Given the description of an element on the screen output the (x, y) to click on. 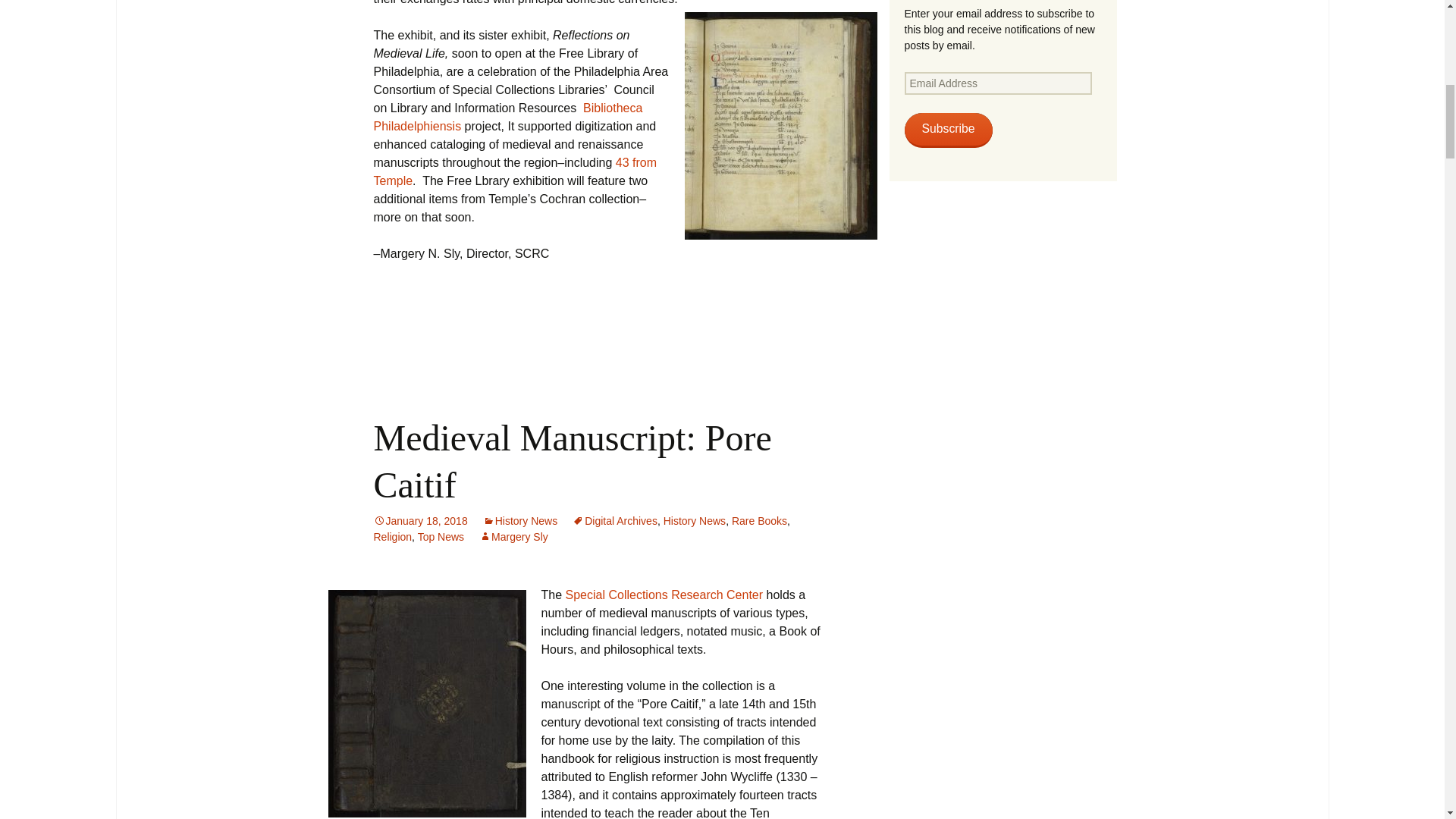
43 from Temple (514, 171)
Special Collections Research Center (666, 594)
Bibliotheca Philadelphiensis (507, 116)
View all posts by Margery Sly (513, 536)
Rare Books (759, 521)
January 18, 2018 (419, 521)
Top News (440, 536)
Religion (392, 536)
History News (520, 521)
Permalink to Medieval Manuscript: Pore Caitif (419, 521)
Digital Archives (615, 521)
History News (694, 521)
Margery Sly (513, 536)
Medieval Manuscript: Pore Caitif (571, 461)
